Given the description of an element on the screen output the (x, y) to click on. 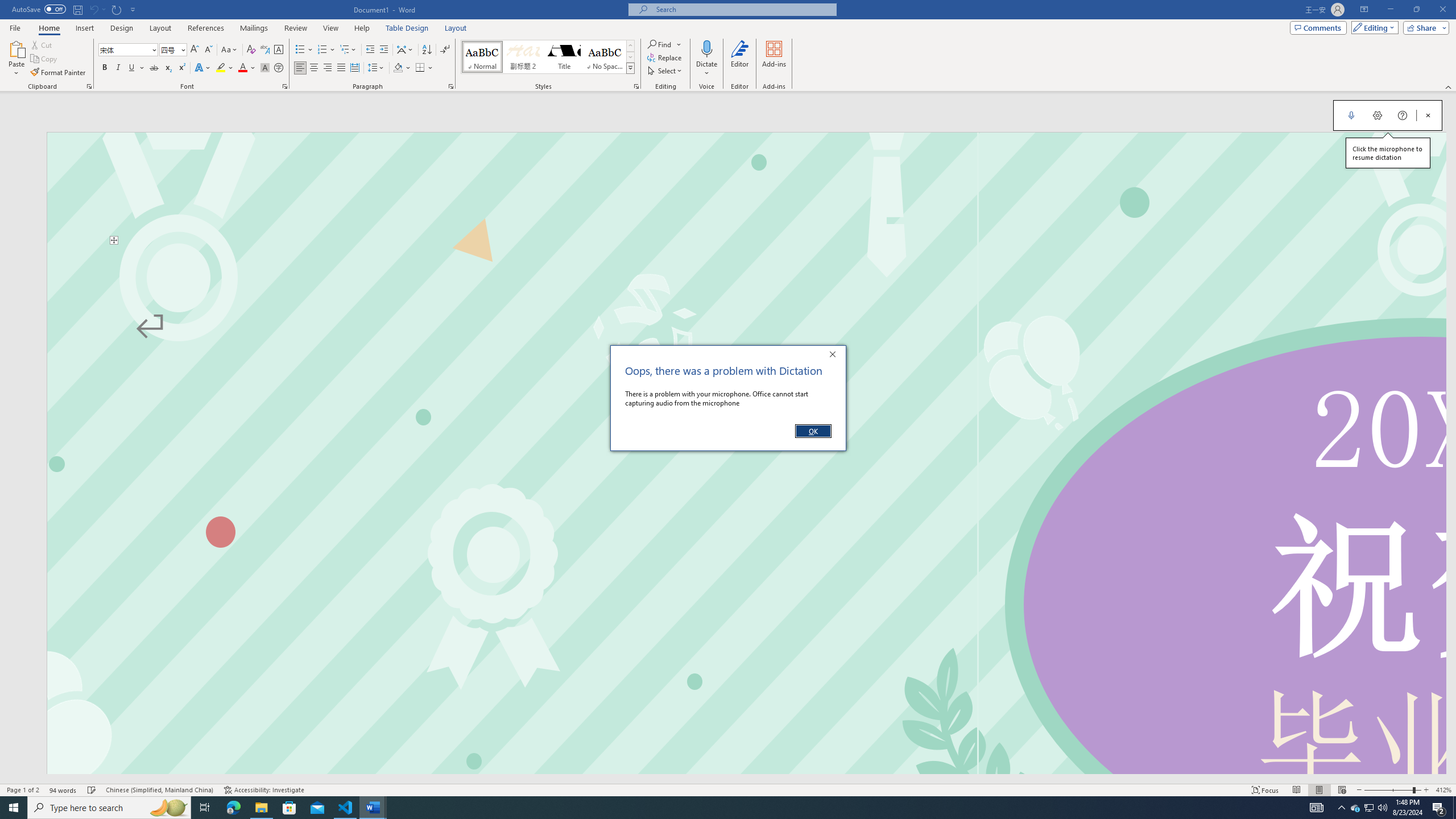
Close Dictation (1428, 115)
Can't Undo (96, 9)
Word - 2 running windows (373, 807)
